Given the description of an element on the screen output the (x, y) to click on. 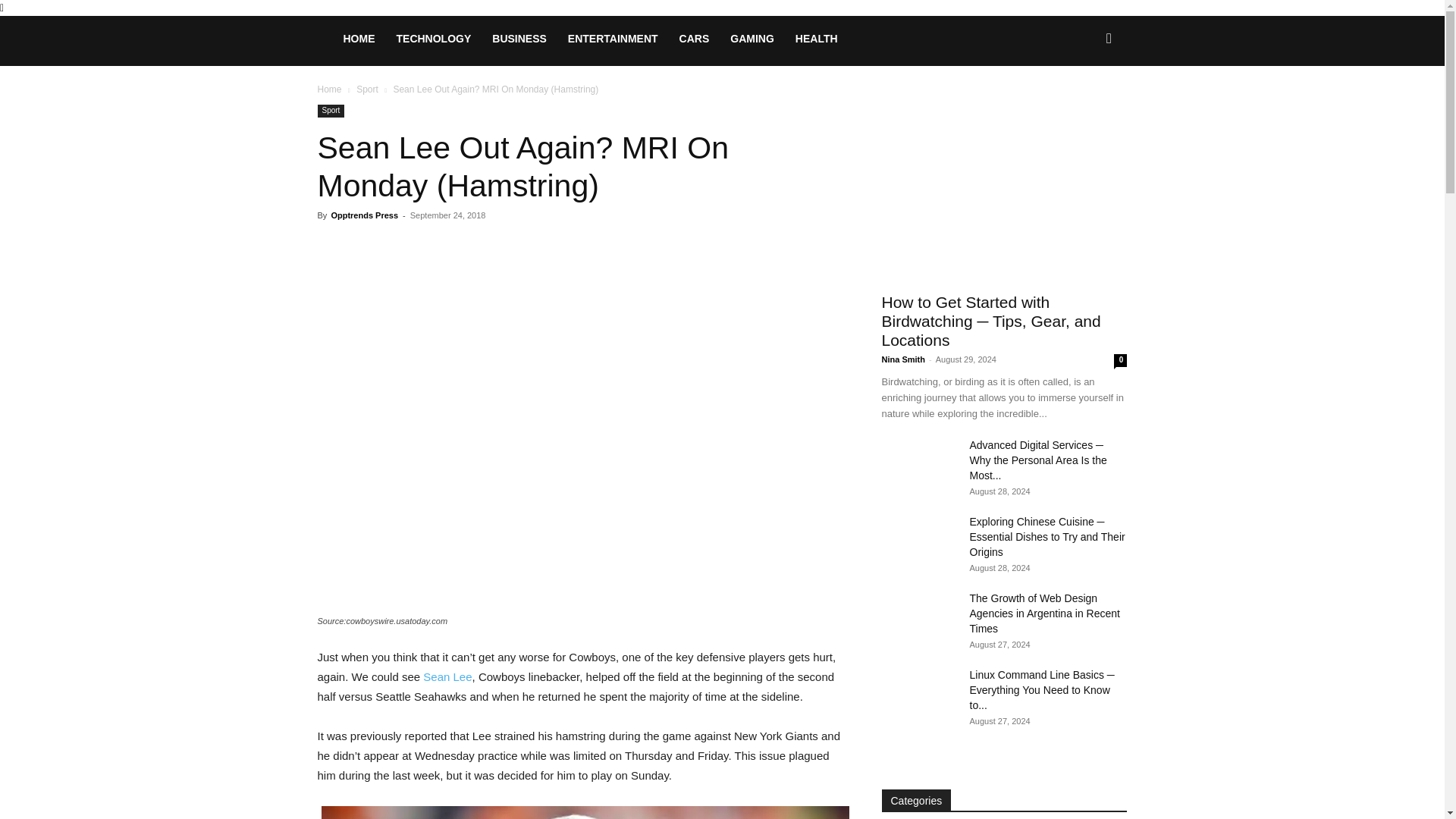
ENTERTAINMENT (612, 38)
HEALTH (816, 38)
Sport (330, 110)
View all posts in Sport (367, 89)
BUSINESS (519, 38)
Search (1085, 103)
GAMING (751, 38)
Home (328, 89)
Sean Lee (447, 676)
